Given the description of an element on the screen output the (x, y) to click on. 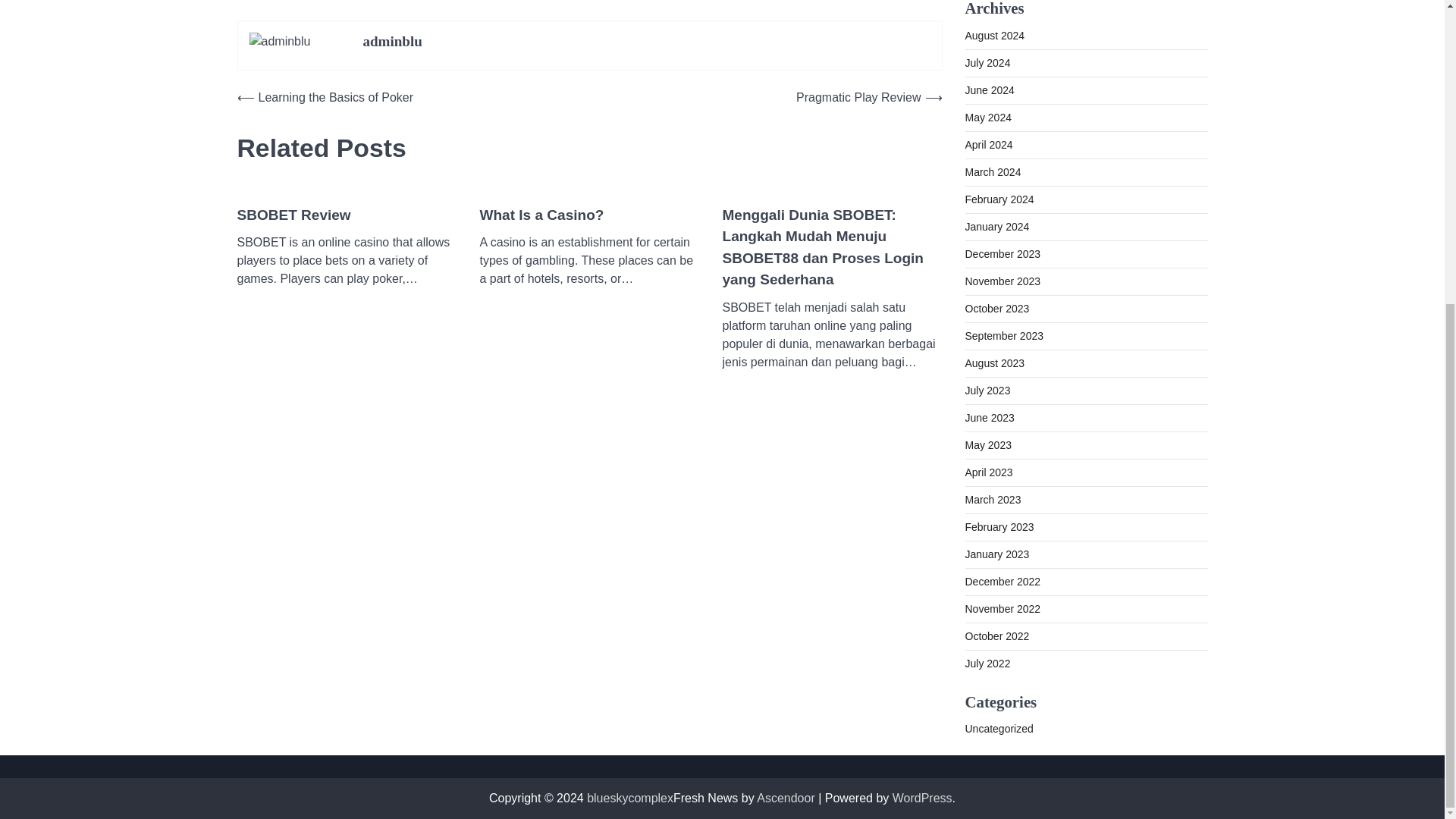
February 2024 (998, 198)
May 2024 (986, 116)
March 2023 (991, 499)
July 2024 (986, 61)
June 2023 (988, 417)
July 2023 (986, 389)
August 2023 (994, 362)
March 2024 (991, 171)
What Is a Casino? (541, 215)
October 2023 (996, 307)
